Given the description of an element on the screen output the (x, y) to click on. 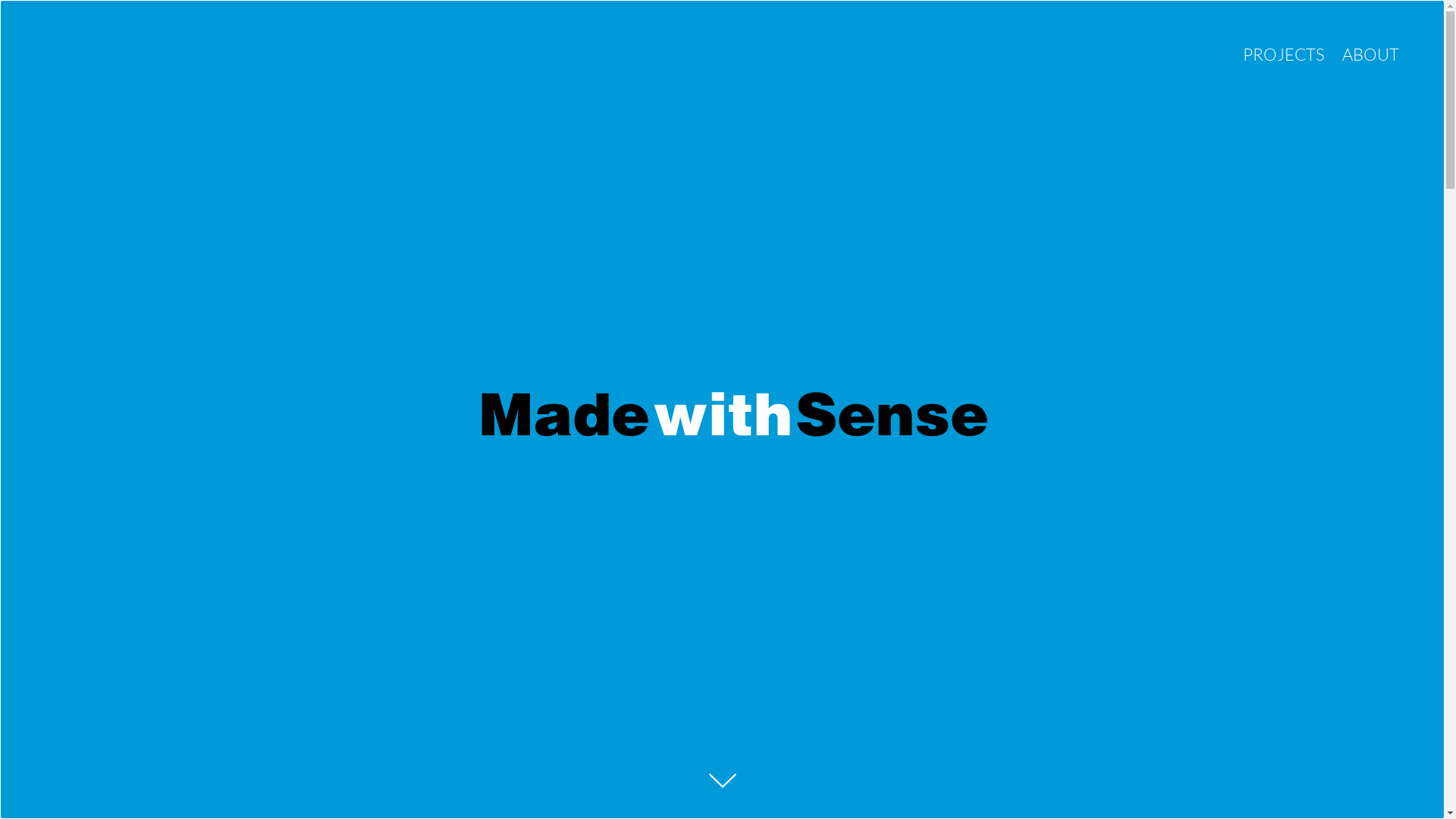
ABOUT Element type: text (1370, 53)
PROJECTS Element type: text (1283, 53)
